Given the description of an element on the screen output the (x, y) to click on. 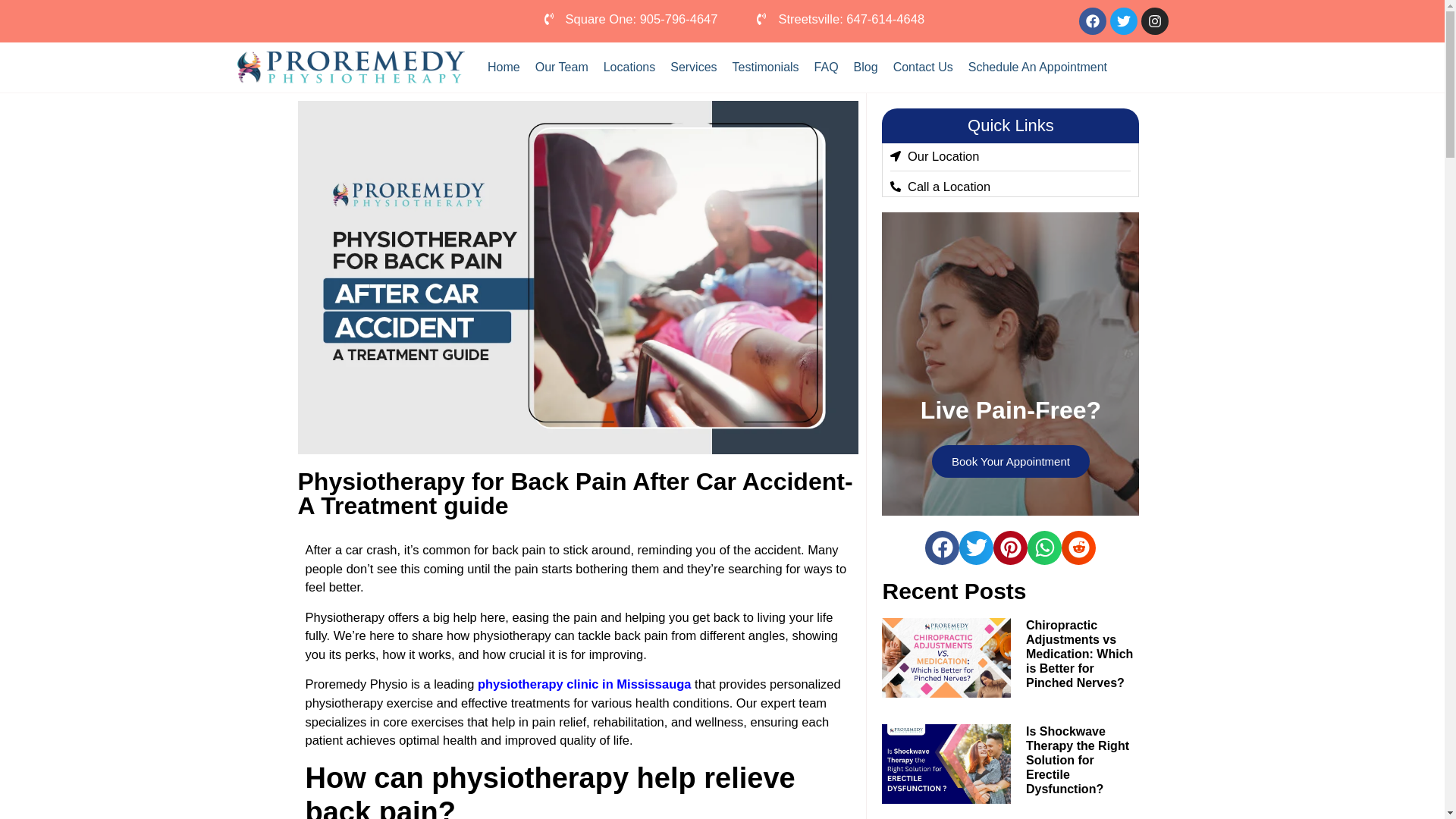
Square One: 905-796-4647 (630, 18)
Services (692, 67)
Locations (629, 67)
Our Team (561, 67)
FAQ (825, 67)
Streetsville: 647-614-4648 (839, 18)
Blog (865, 67)
Testimonials (765, 67)
Contact Us (922, 67)
Home (503, 67)
